Given the description of an element on the screen output the (x, y) to click on. 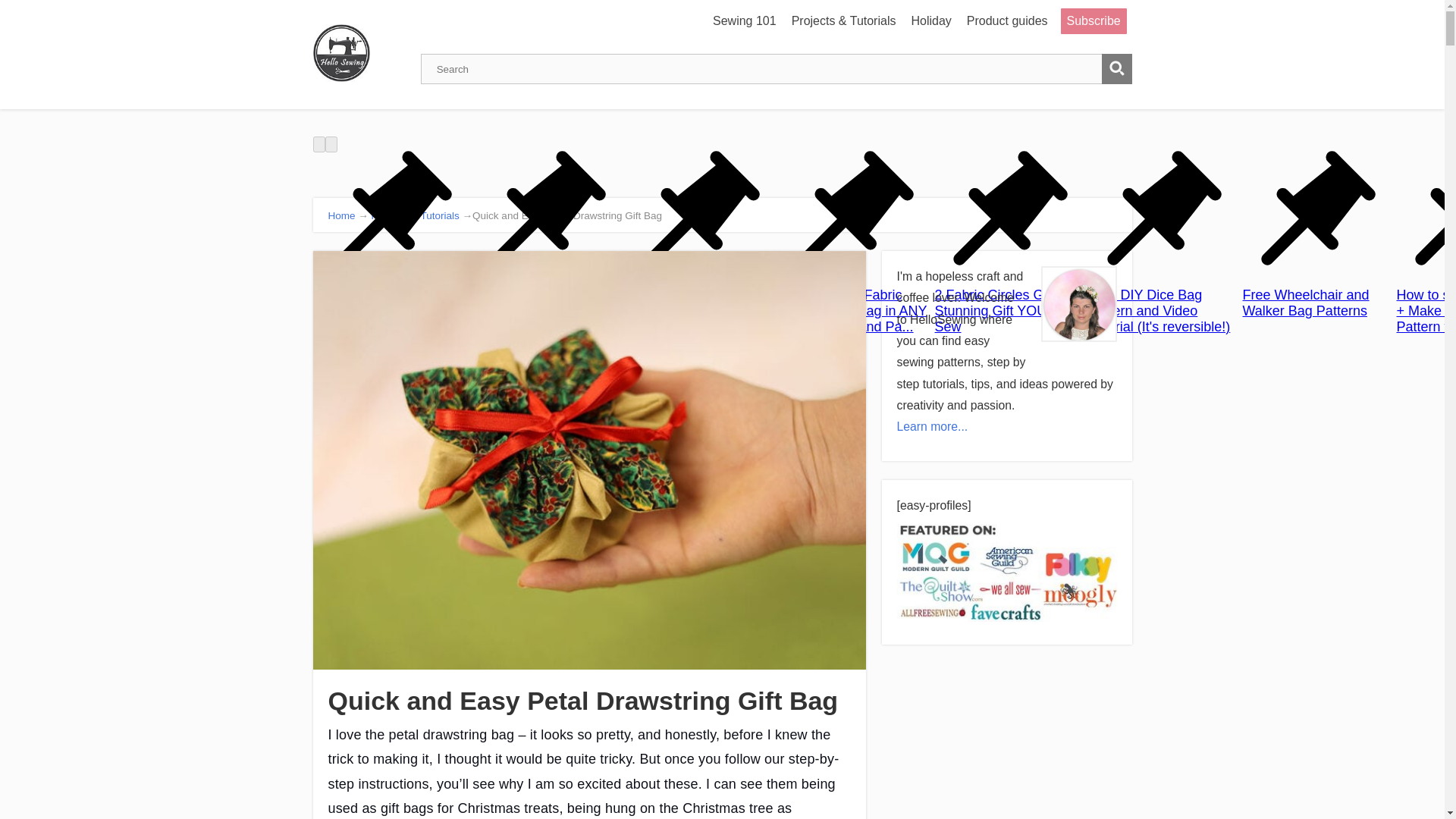
Product guides (1007, 21)
Home (341, 215)
Sewing 101 (744, 21)
Holiday (930, 21)
Subscribe (1093, 21)
